Given the description of an element on the screen output the (x, y) to click on. 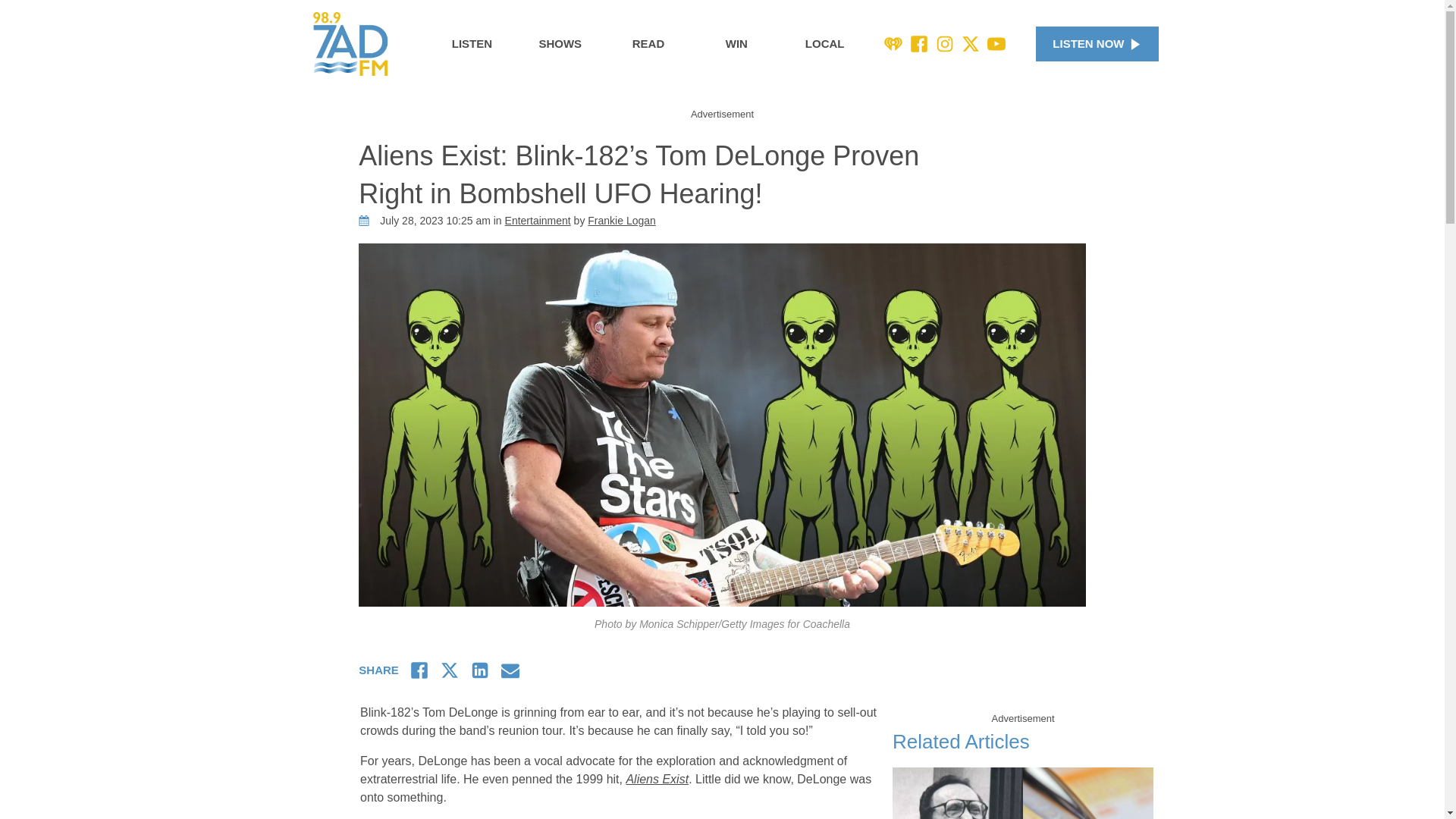
READ (648, 43)
SHOWS (560, 43)
LISTEN NOW (1096, 44)
Facebook (919, 44)
WIN (736, 43)
YouTube (996, 44)
LISTEN (471, 43)
Posts by Frankie Logan (622, 220)
LOCAL (824, 43)
Instagram (944, 44)
iHeart (892, 44)
